Given the description of an element on the screen output the (x, y) to click on. 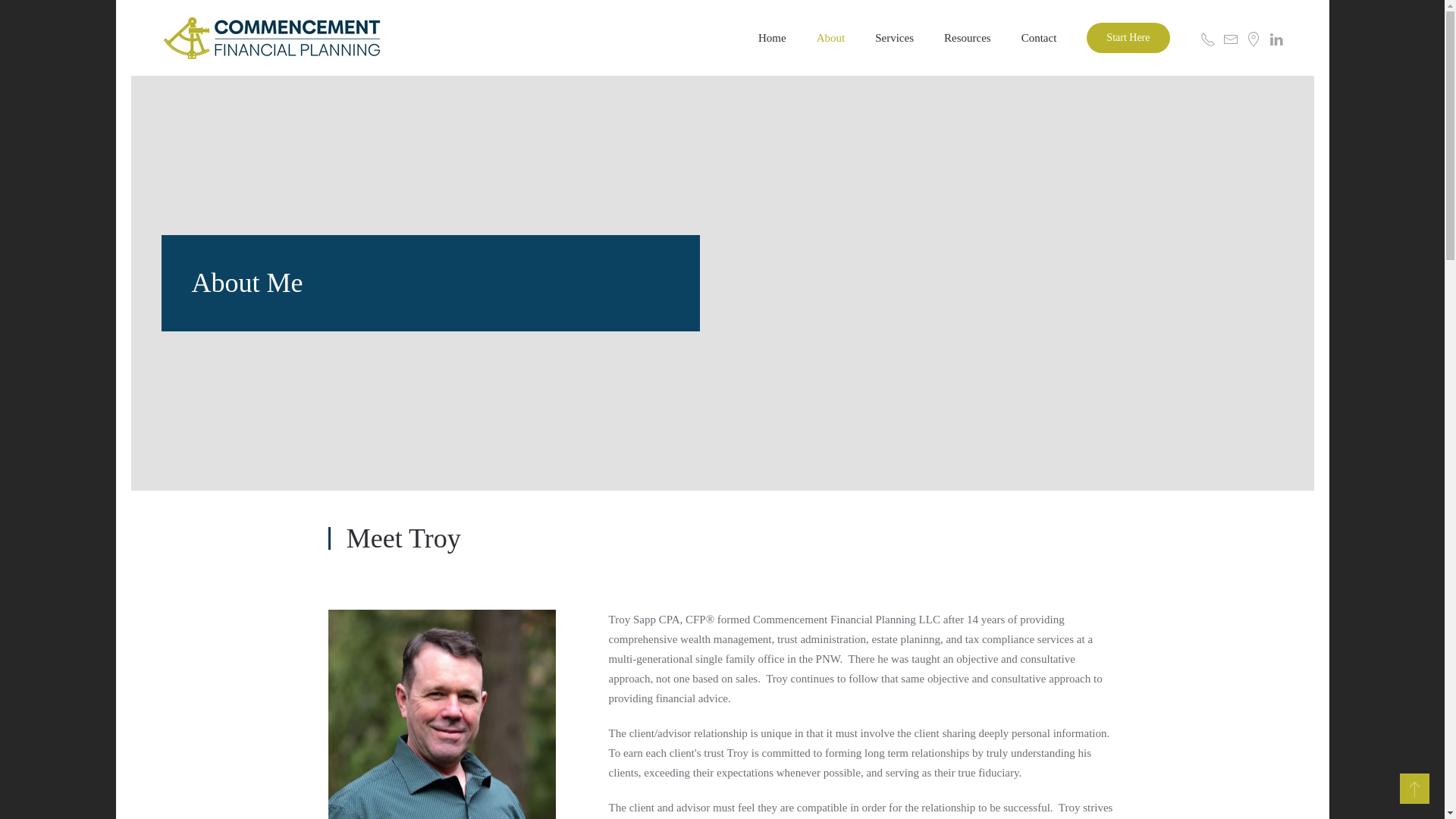
Meet Troy (721, 538)
